Given the description of an element on the screen output the (x, y) to click on. 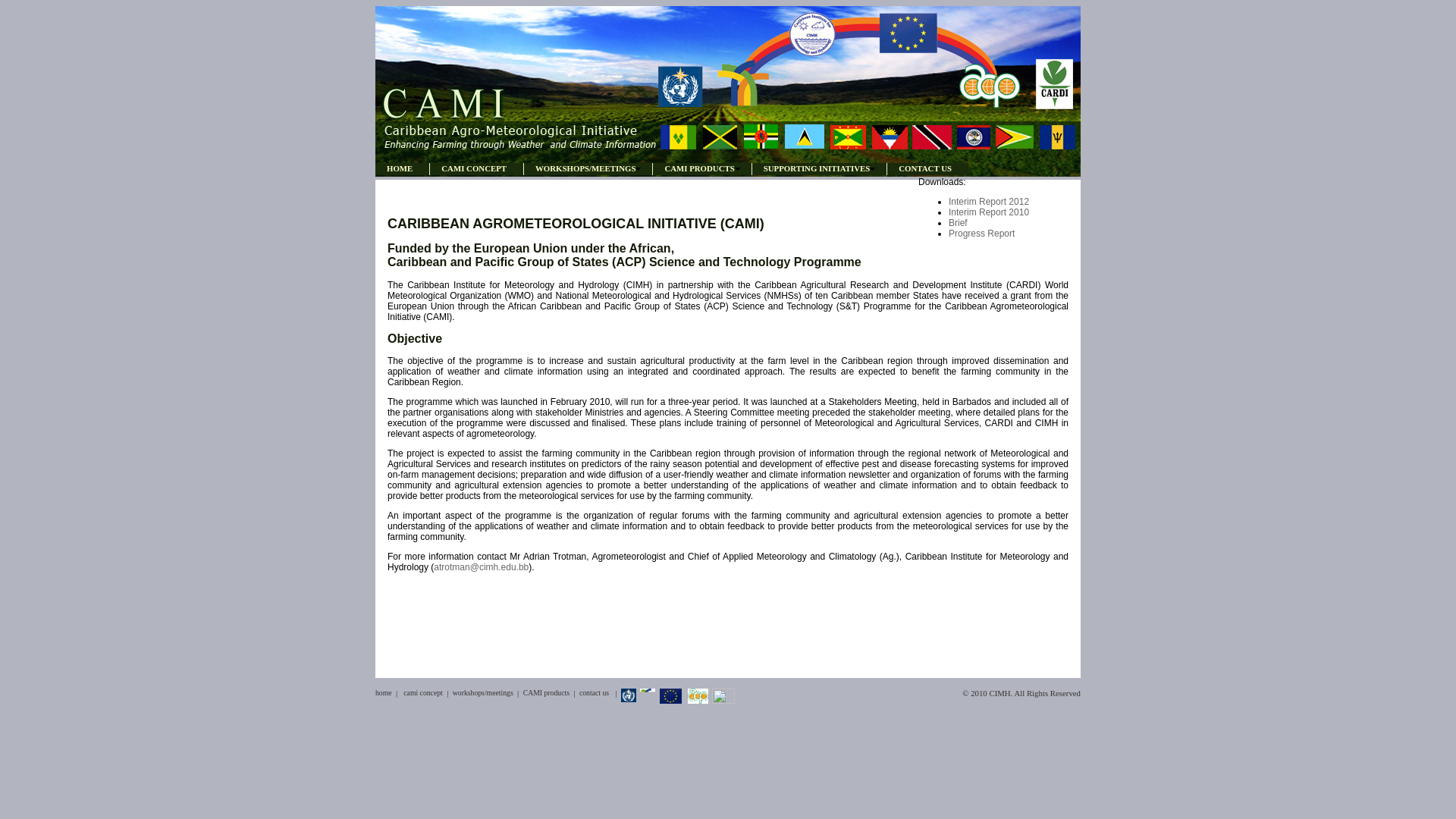
home Element type: text (383, 692)
Interim Report 2012 Element type: text (988, 201)
atrotman@cimh.edu.bb Element type: text (480, 566)
CAMI CONCEPT Element type: text (476, 168)
workshops/meetings Element type: text (482, 692)
cami concept Element type: text (422, 692)
SUPPORTING INITIATIVES Element type: text (819, 168)
CAMI PRODUCTS Element type: text (701, 168)
CAMI products Element type: text (546, 692)
contact us Element type: text (593, 692)
WORKSHOPS/MEETINGS Element type: text (587, 168)
CONTACT US Element type: text (927, 168)
Interim Report 2010 Element type: text (988, 212)
Progress Report Element type: text (981, 233)
Brief Element type: text (957, 222)
HOME Element type: text (402, 168)
